Given the description of an element on the screen output the (x, y) to click on. 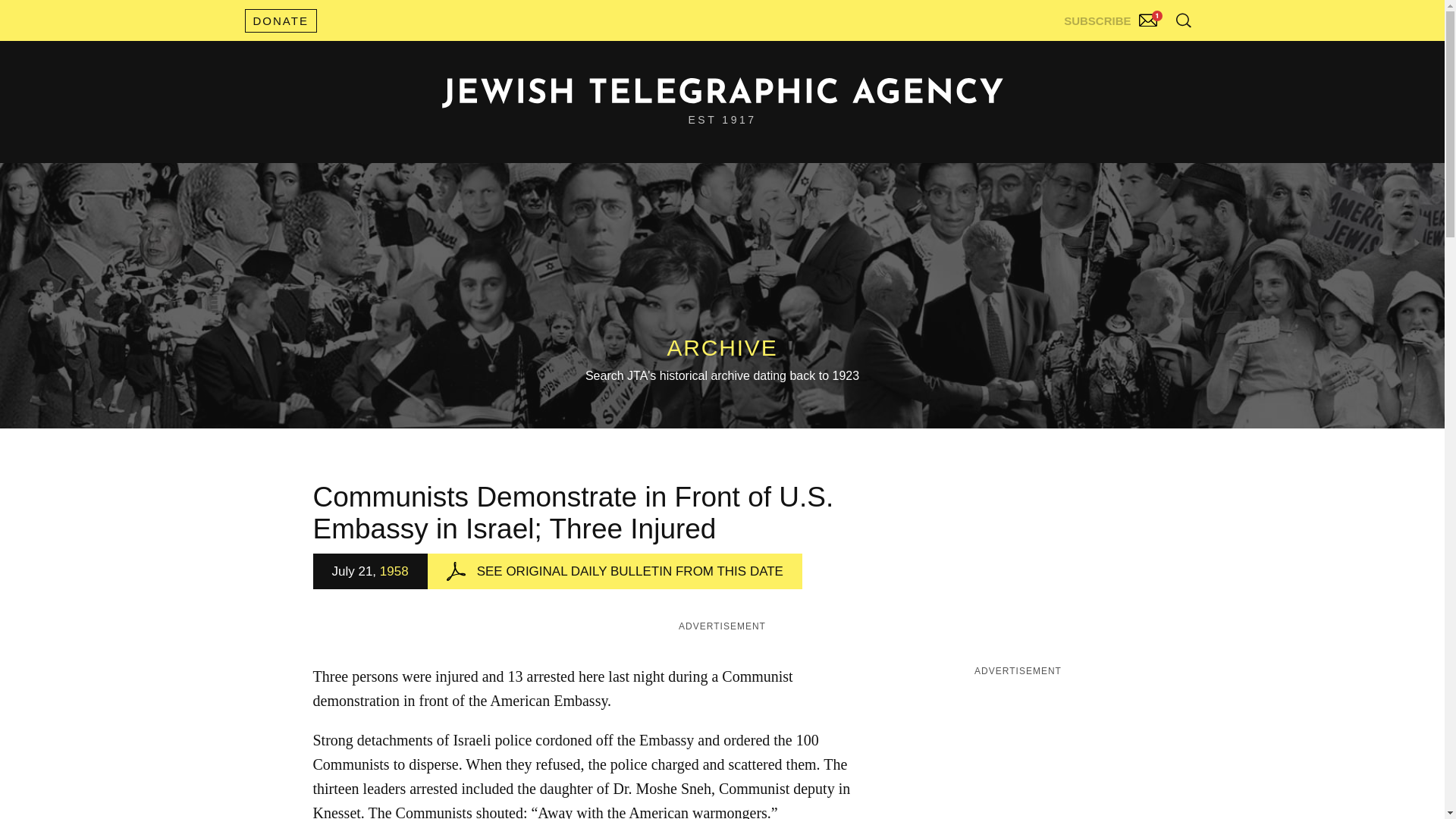
SUBSCRIBE (1112, 17)
Search (1144, 53)
DONATE (279, 20)
SEARCH TOGGLESEARCH TOGGLE (1182, 20)
